Given the description of an element on the screen output the (x, y) to click on. 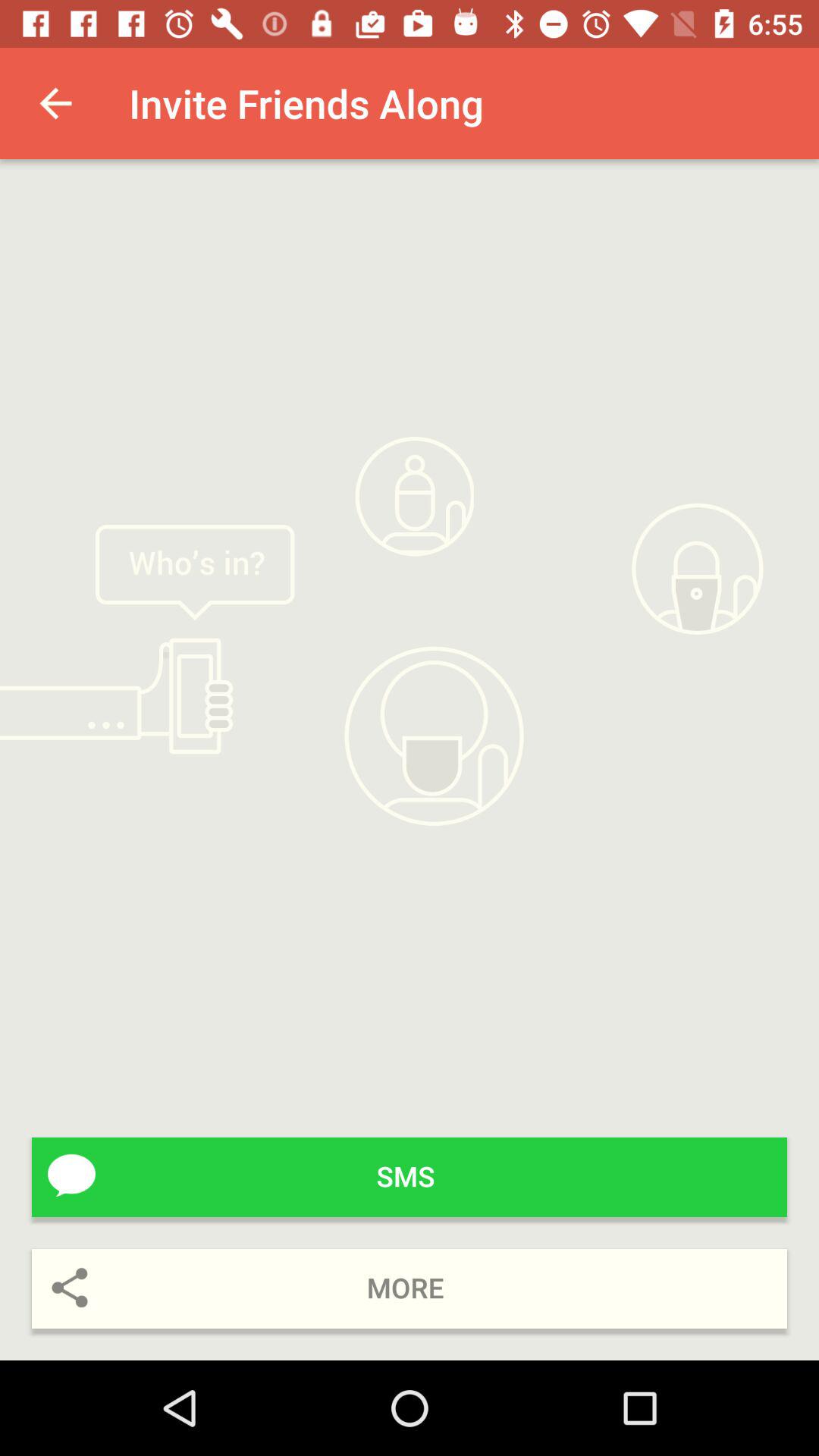
turn on icon above more icon (409, 1177)
